Given the description of an element on the screen output the (x, y) to click on. 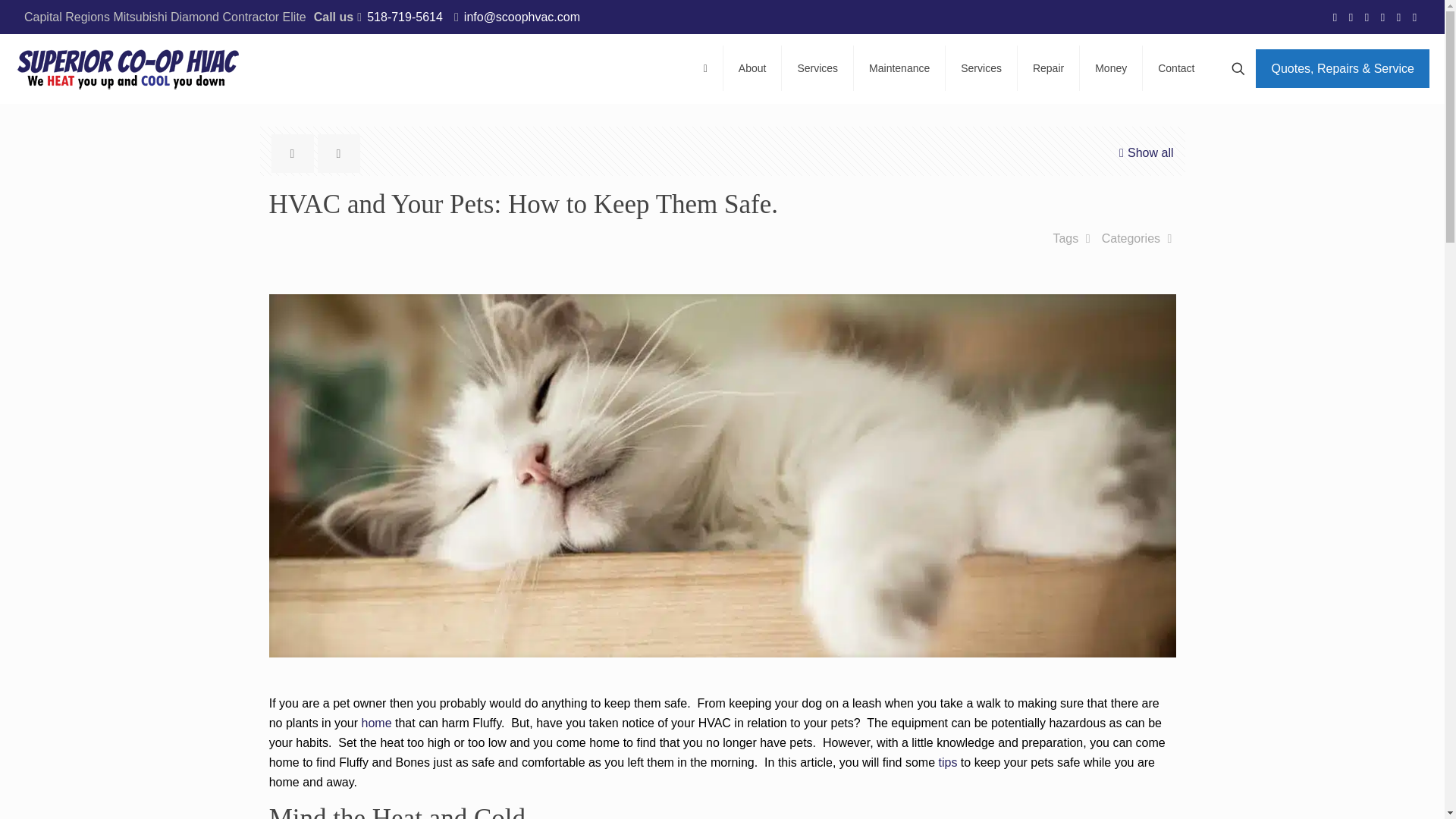
Repair (1048, 68)
Services (817, 68)
Maintenance (898, 68)
Superior CO-OP HVAC (128, 68)
Services (980, 68)
518-719-5614 (404, 16)
